Given the description of an element on the screen output the (x, y) to click on. 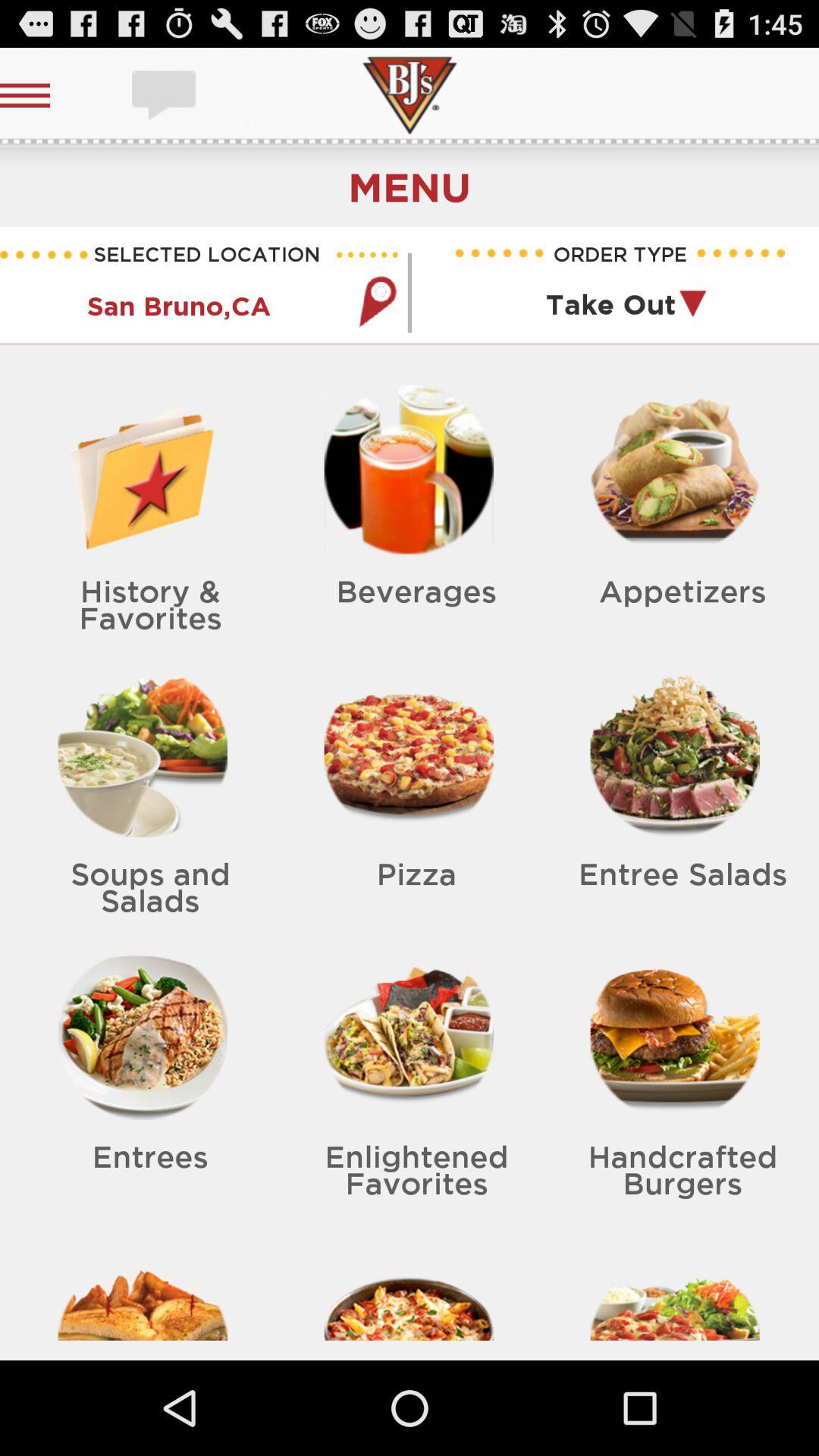
location (376, 301)
